Given the description of an element on the screen output the (x, y) to click on. 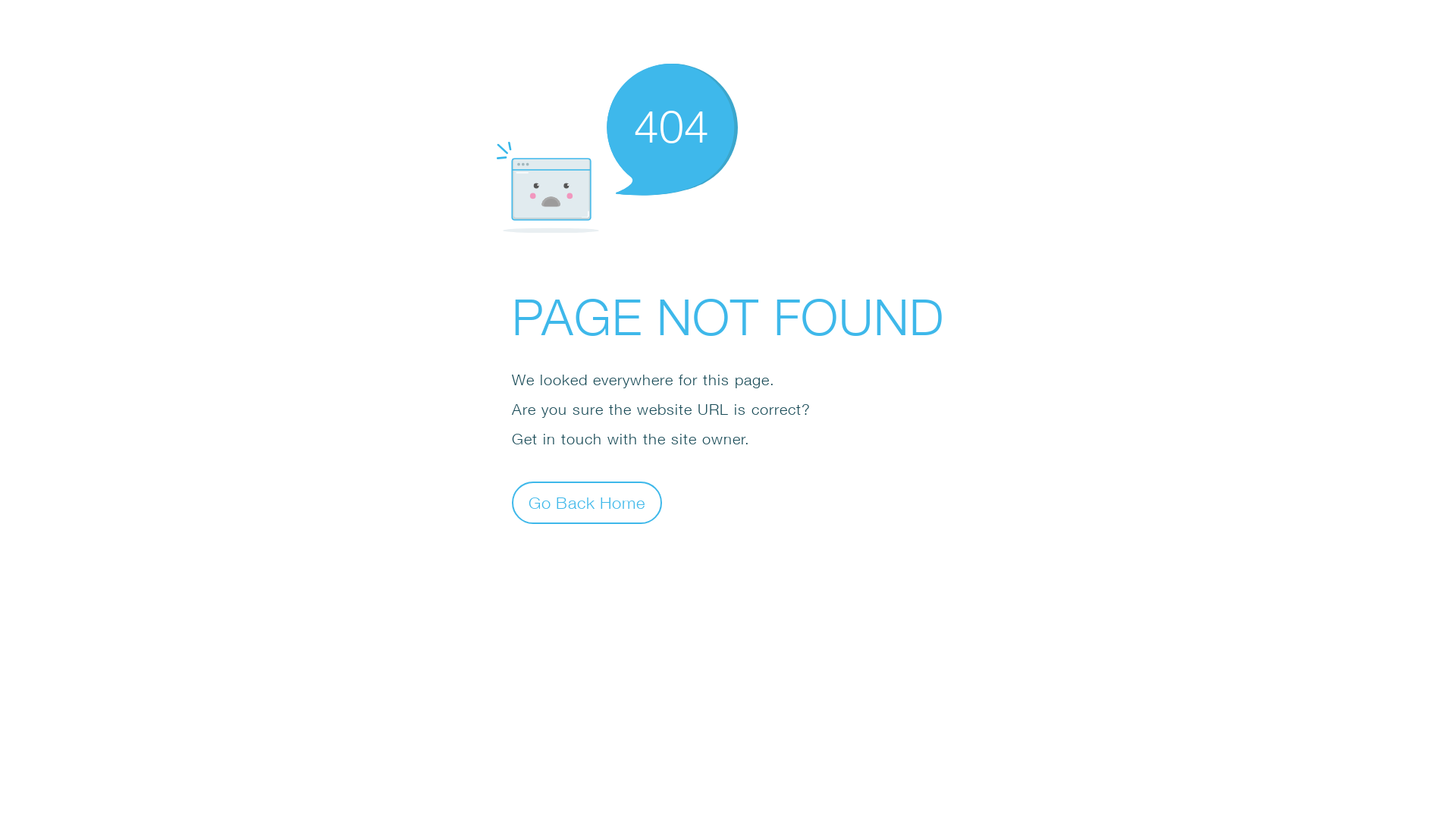
Go Back Home Element type: text (586, 502)
